Given the description of an element on the screen output the (x, y) to click on. 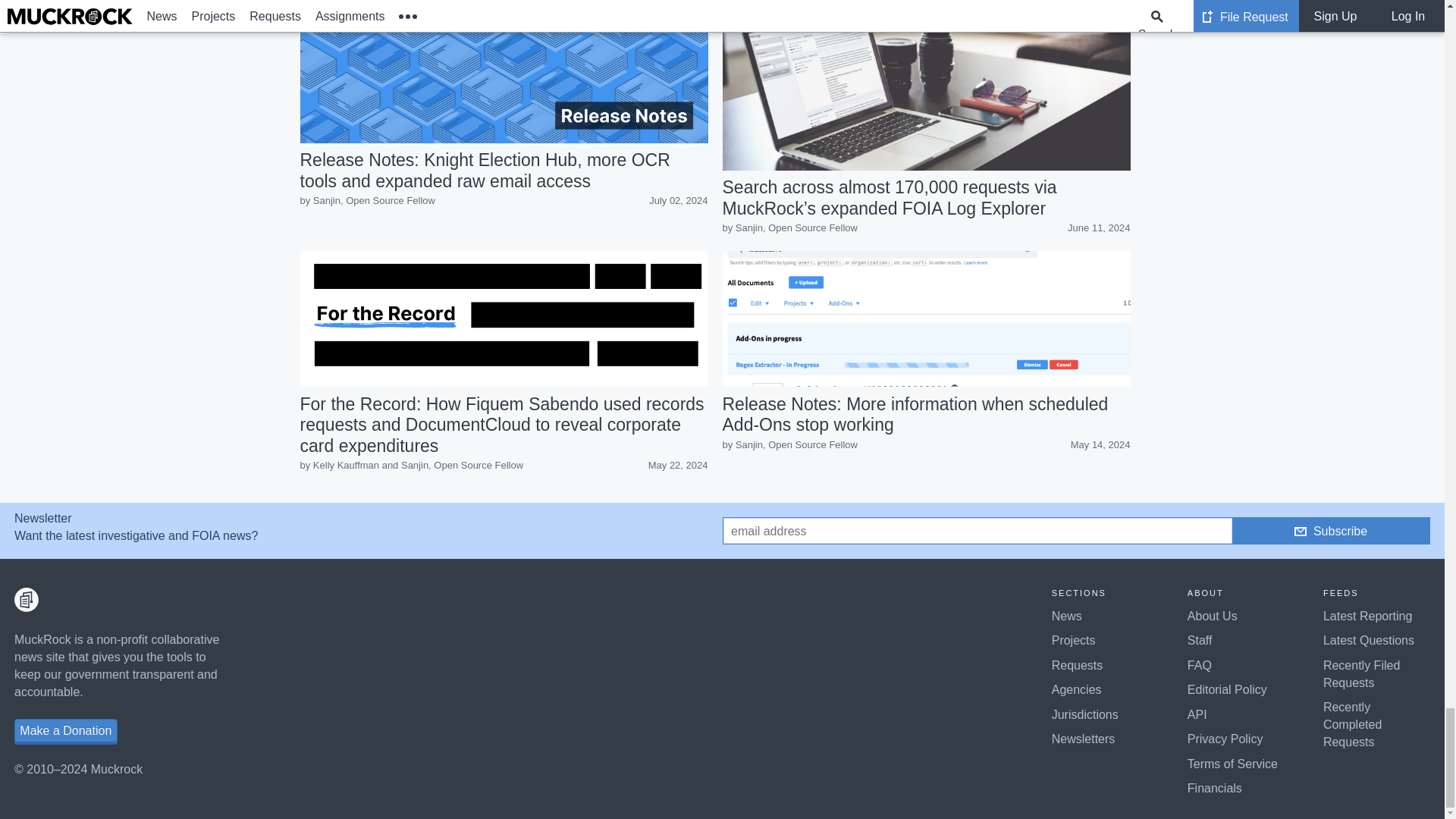
Sanjin, Open Source Fellow (796, 227)
Sanjin, Open Source Fellow (461, 464)
Email Icon resembling an envelope. (1300, 531)
2024-05-22T06:00:00-04:00 (677, 465)
2024-06-11T09:34:55-04:00 (1098, 227)
Sanjin, Open Source Fellow (374, 200)
Kelly Kauffman (345, 464)
2024-07-02T10:16:27-04:00 (678, 200)
